Given the description of an element on the screen output the (x, y) to click on. 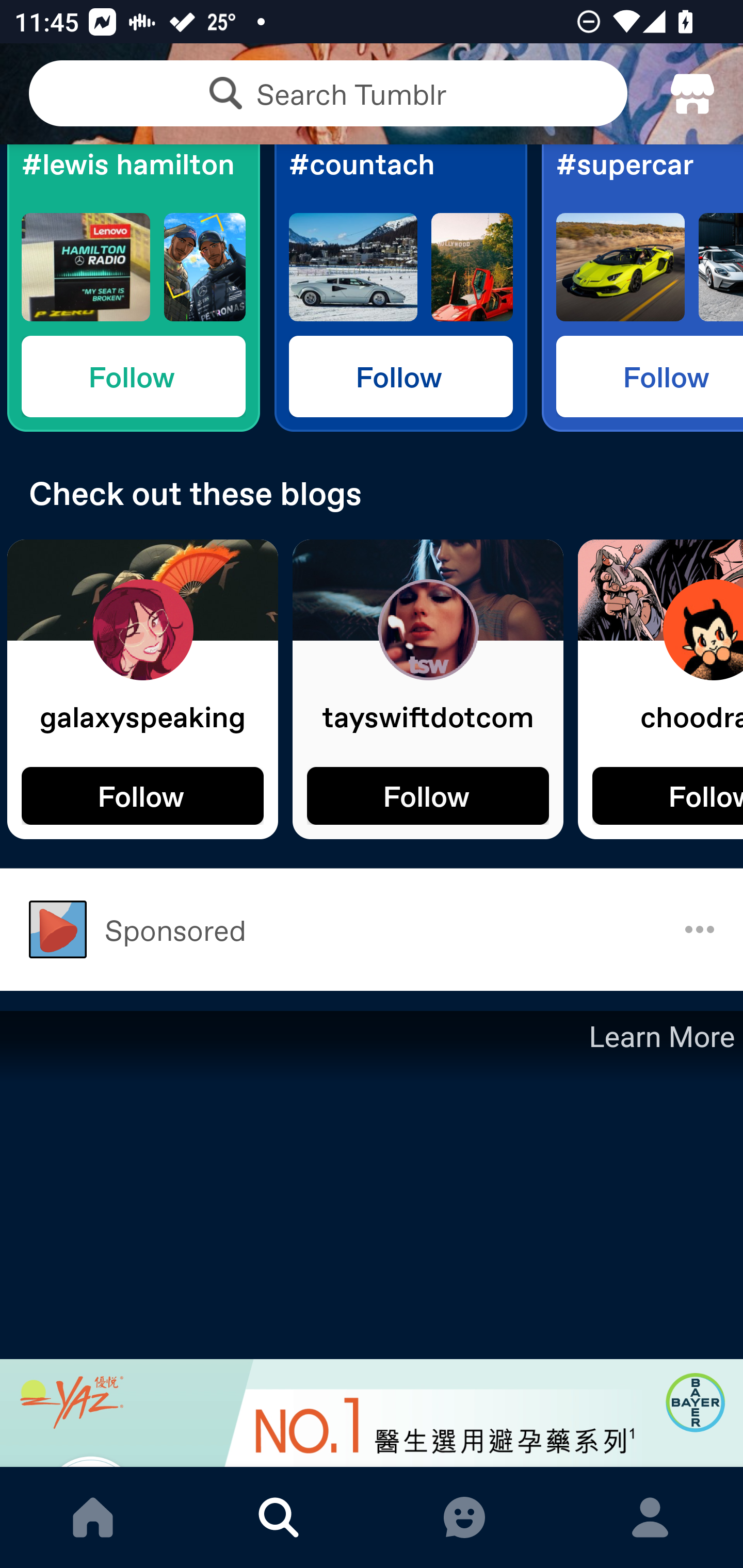
Search Tumblr (327, 93)
TumblrMart (692, 94)
#lewis hamilton Follow (133, 287)
#countach Follow (400, 287)
#supercar Follow (642, 287)
Follow (133, 376)
Follow (400, 376)
Follow (649, 376)
Check out these blogs (371, 492)
galaxyspeaking Follow (142, 688)
tayswiftdotcom Follow (427, 688)
choodraws Follow (660, 688)
Follow (142, 795)
Follow (427, 795)
Follow (667, 795)
Why do I see this ad? (699, 929)
Learn More (371, 1239)
Learn More (660, 1037)
DASHBOARD (92, 1517)
EXPLORE (278, 1517)
MESSAGES (464, 1517)
ACCOUNT (650, 1517)
